Given the description of an element on the screen output the (x, y) to click on. 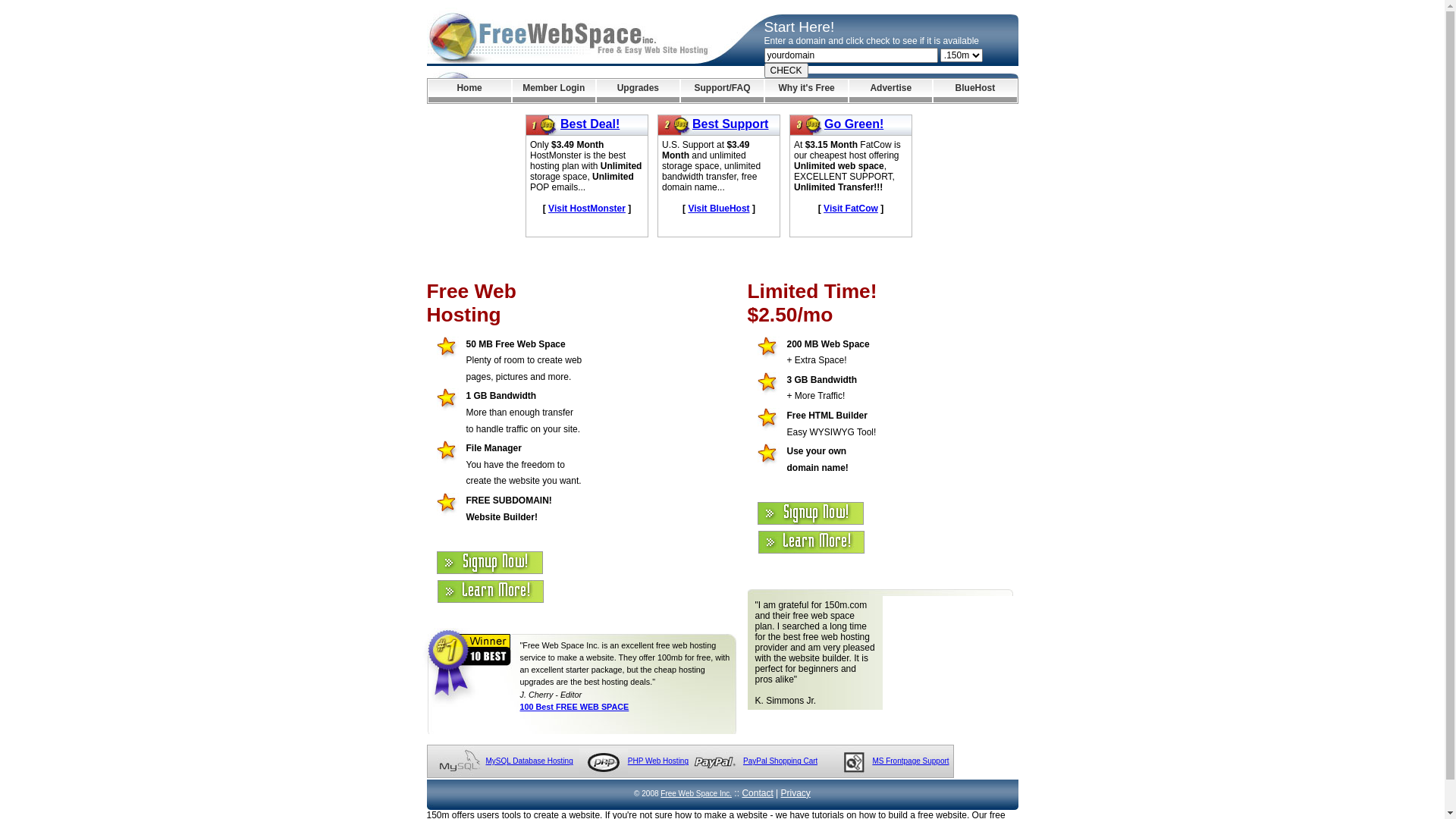
PHP Web Hosting Element type: text (657, 760)
MS Frontpage Support Element type: text (910, 760)
Privacy Element type: text (795, 792)
Member Login Element type: text (553, 90)
Support/FAQ Element type: text (721, 90)
Free Web Space Inc. Element type: text (695, 793)
BlueHost Element type: text (974, 90)
100 Best FREE WEB SPACE Element type: text (574, 706)
MySQL Database Hosting Element type: text (528, 760)
PayPal Shopping Cart Element type: text (780, 760)
Home Element type: text (468, 90)
Upgrades Element type: text (637, 90)
Why it's Free Element type: text (806, 90)
CHECK Element type: text (786, 70)
Contact Element type: text (756, 792)
Advertise Element type: text (890, 90)
